Given the description of an element on the screen output the (x, y) to click on. 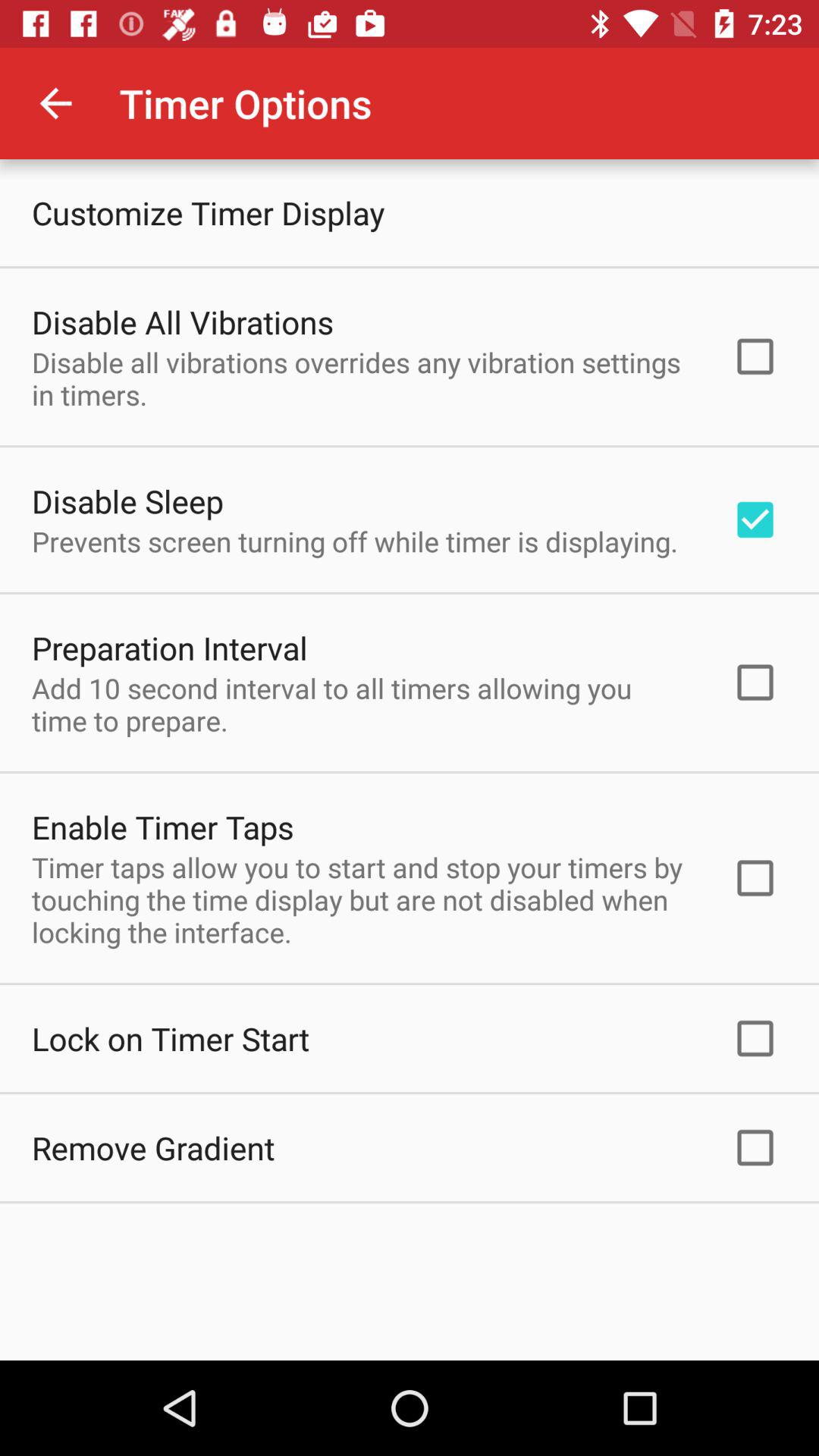
turn off the icon below the disable all vibrations item (127, 500)
